Given the description of an element on the screen output the (x, y) to click on. 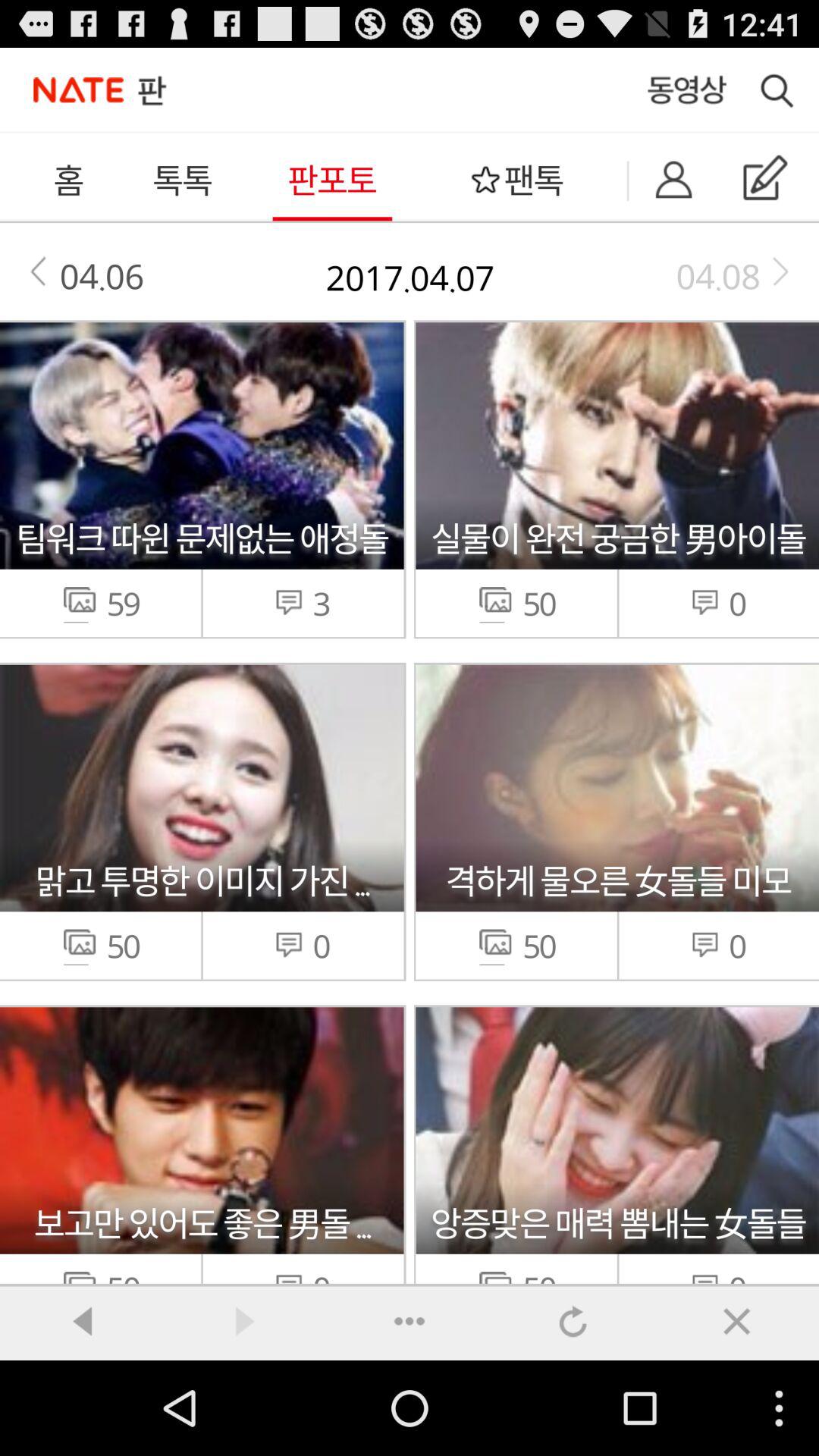
go to icon (409, 1320)
